Given the description of an element on the screen output the (x, y) to click on. 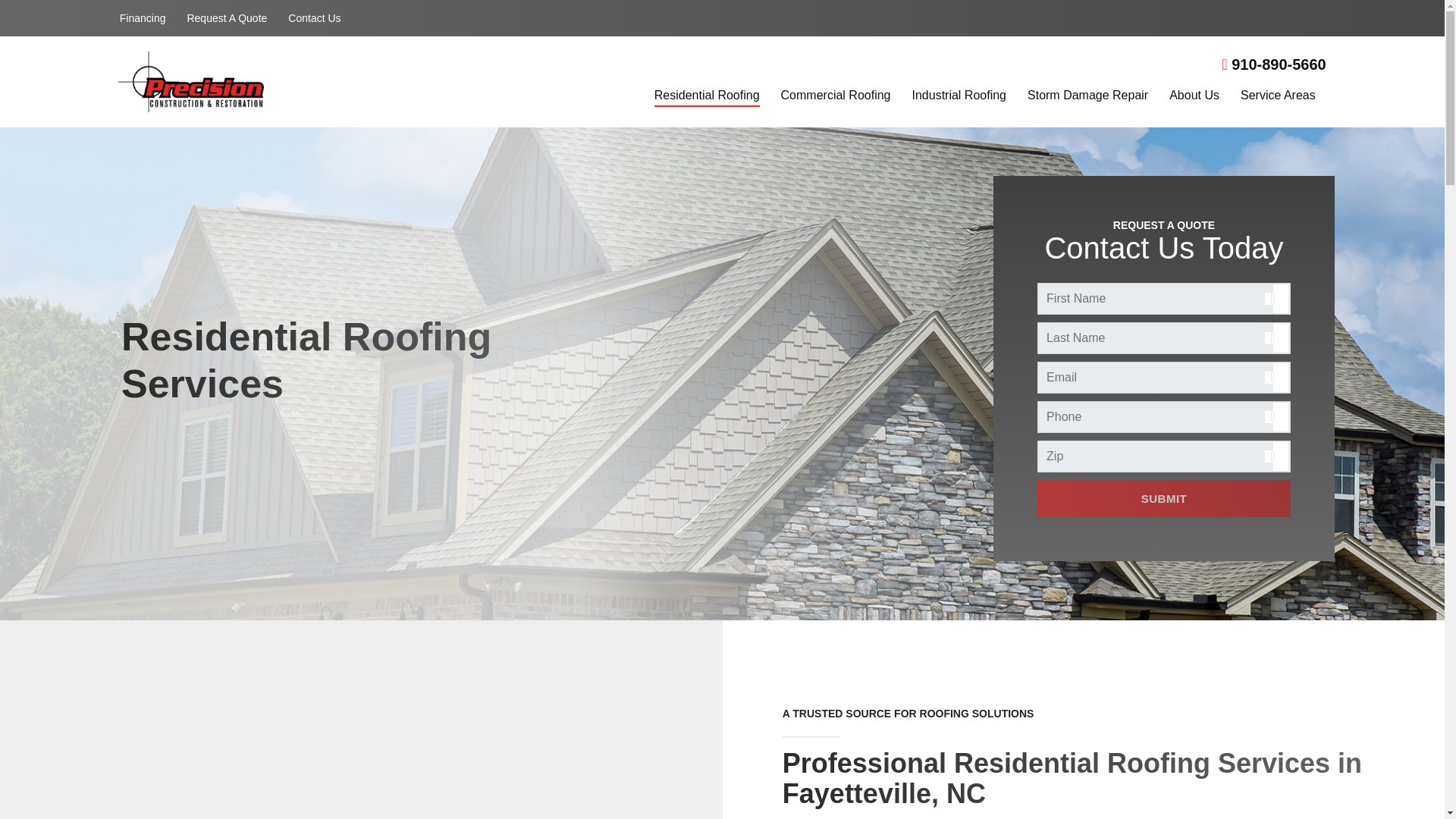
910-890-5660 (1272, 64)
Service Areas (1278, 96)
Storm Damage Repair (1087, 96)
Financing (142, 18)
About Us (1194, 96)
Submit (1163, 497)
Request A Quote (227, 18)
Commercial Roofing (835, 96)
Submit (1163, 497)
Industrial Roofing (958, 96)
Contact Us (314, 18)
Residential Roofing (706, 96)
